Given the description of an element on the screen output the (x, y) to click on. 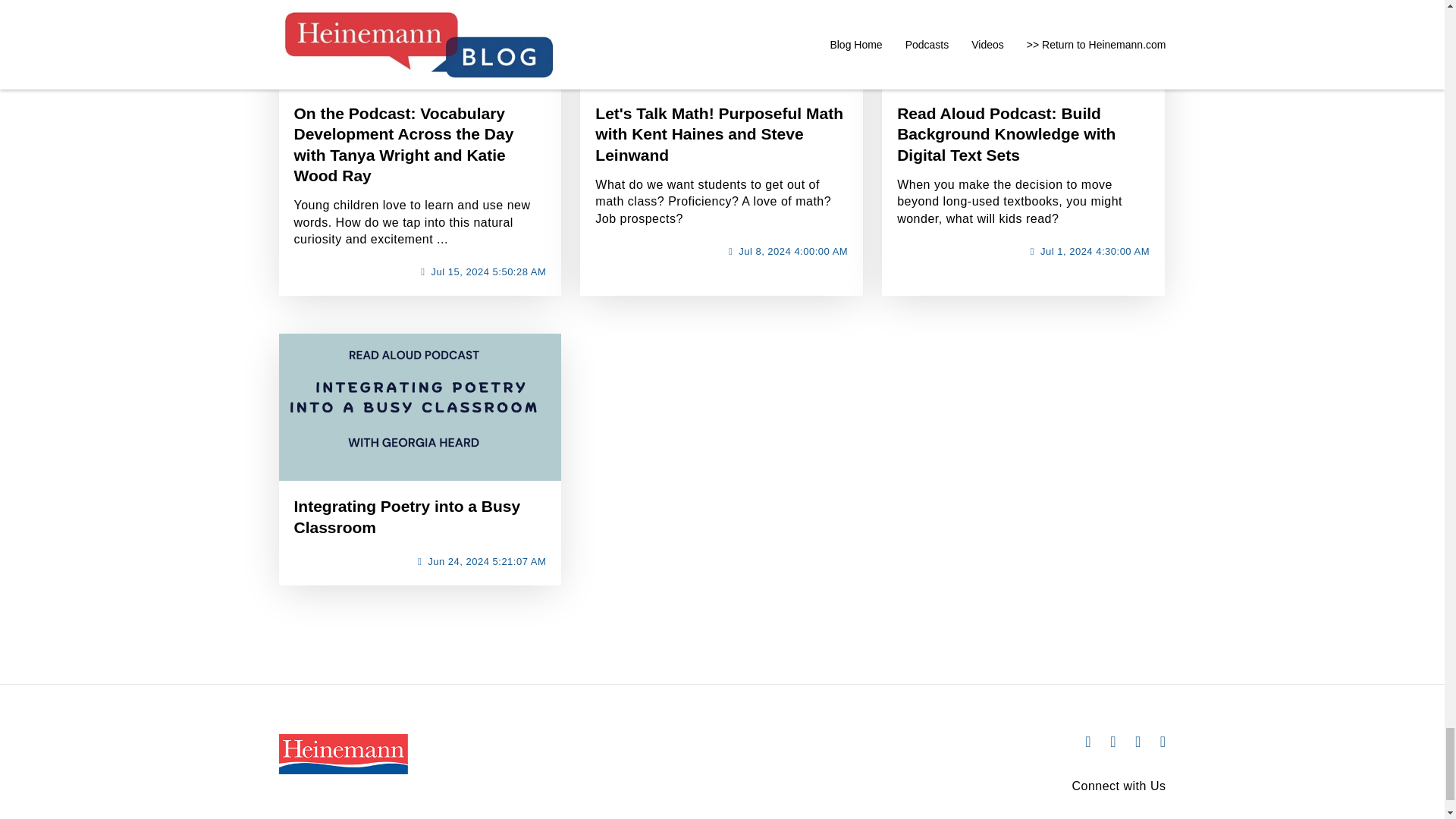
Heinemann-primary-logo-RGB (343, 753)
